Given the description of an element on the screen output the (x, y) to click on. 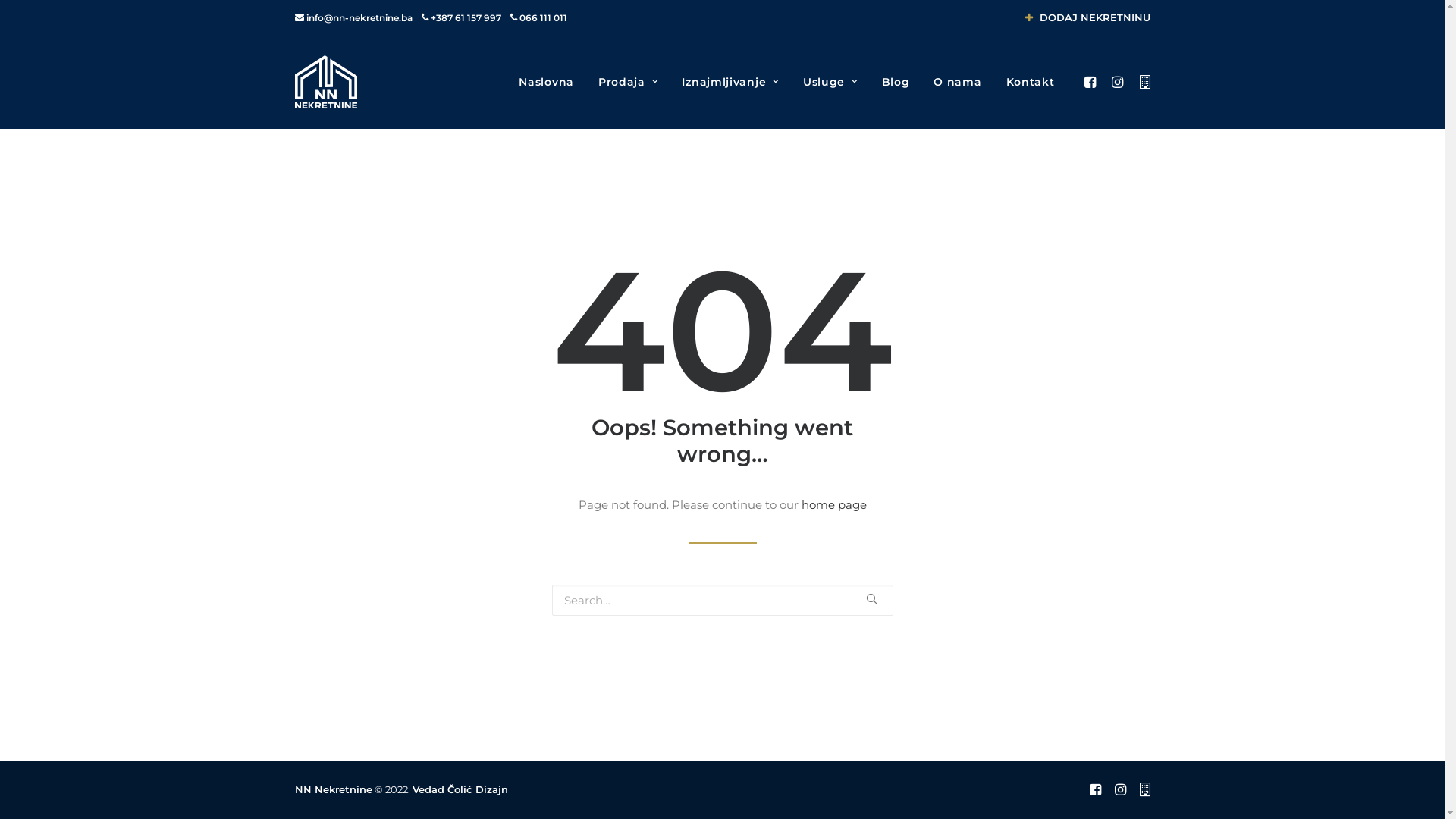
Iznajmljivanje Element type: text (729, 81)
Prodaja Element type: text (627, 81)
066 111 011 Element type: text (542, 17)
info@nn-nekretnine.ba Element type: text (359, 17)
Search for: Element type: hover (722, 599)
Blog Element type: text (895, 81)
+387 61 157 997 Element type: text (465, 17)
O nama Element type: text (956, 81)
Kontakt Element type: text (1024, 81)
DODAJ NEKRETNINU Element type: text (1087, 17)
Usluge Element type: text (830, 81)
Naslovna Element type: text (546, 81)
home page Element type: text (833, 504)
